Given the description of an element on the screen output the (x, y) to click on. 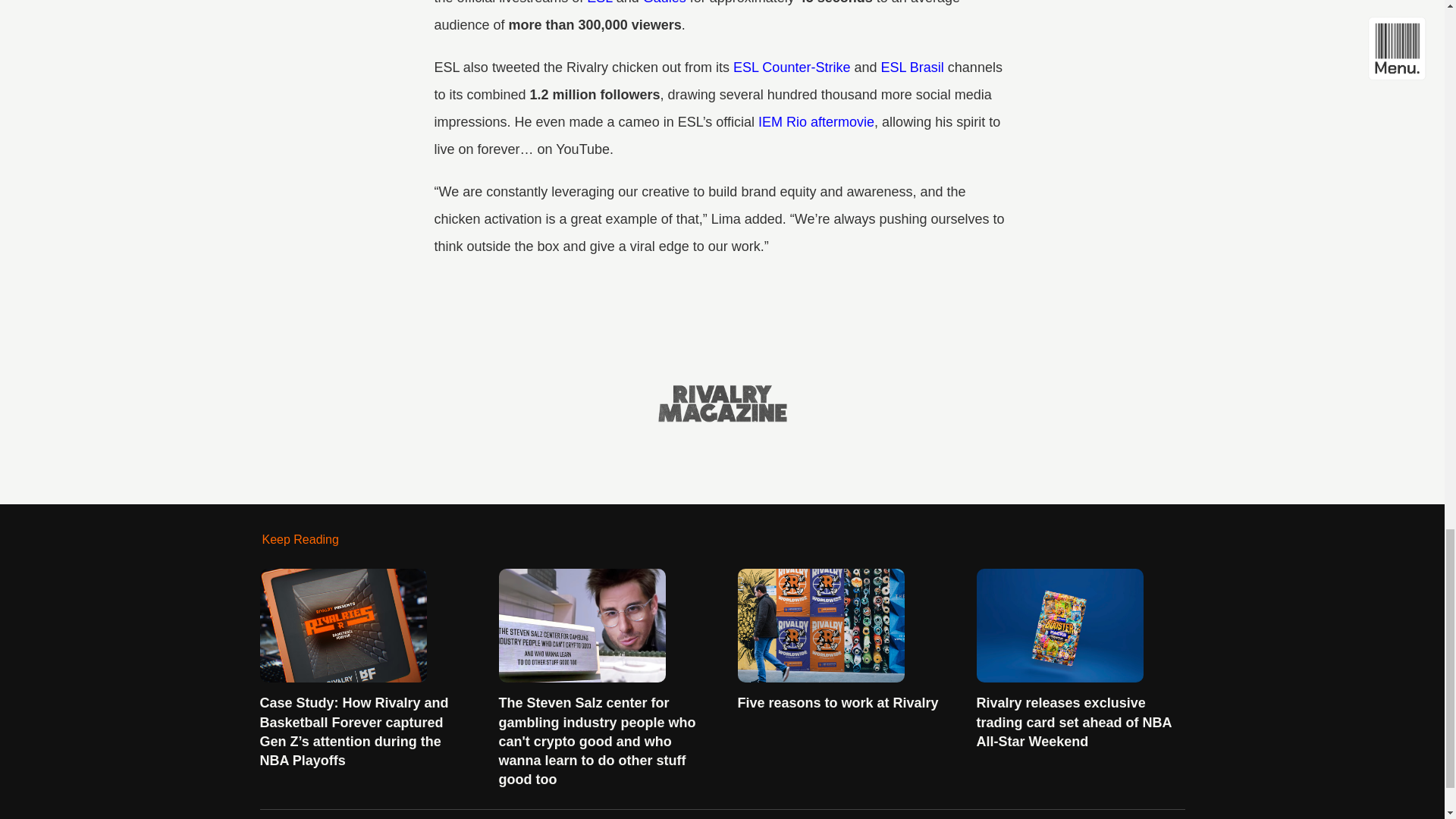
ESL Counter-Strike (791, 67)
Five reasons to work at Rivalry (840, 640)
ESL Brasil (911, 67)
IEM Rio aftermovie (816, 121)
ESL (598, 2)
Gaules (664, 2)
